Given the description of an element on the screen output the (x, y) to click on. 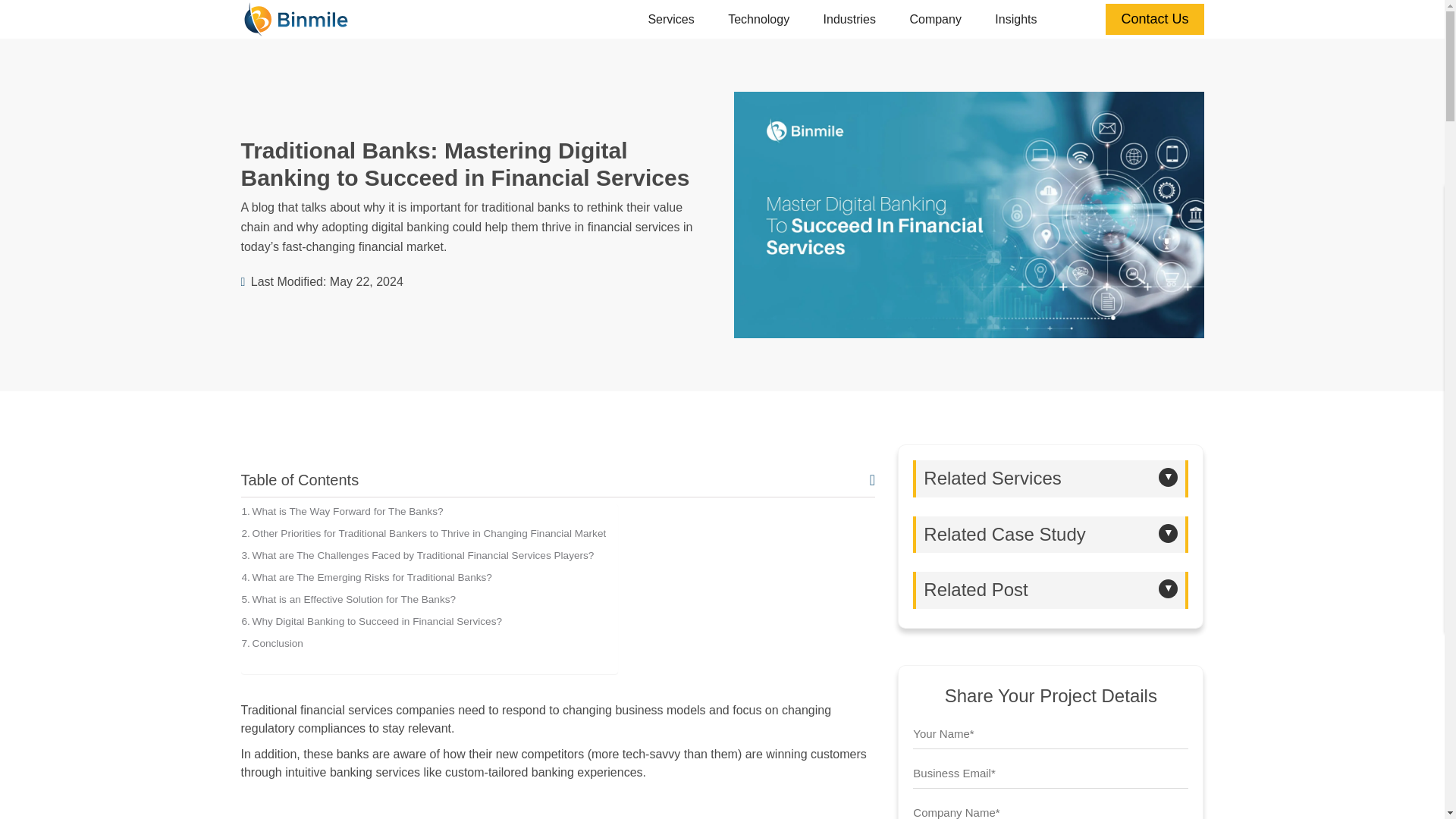
Binmile (295, 18)
What is an Effective Solution for The Banks? (348, 599)
Conclusion (271, 643)
Contact Us (1154, 19)
Why Digital Banking to Succeed in Financial Services? (371, 621)
What are The Emerging Risks for Traditional Banks? (366, 577)
What is The Way Forward for The Banks? (341, 511)
